Given the description of an element on the screen output the (x, y) to click on. 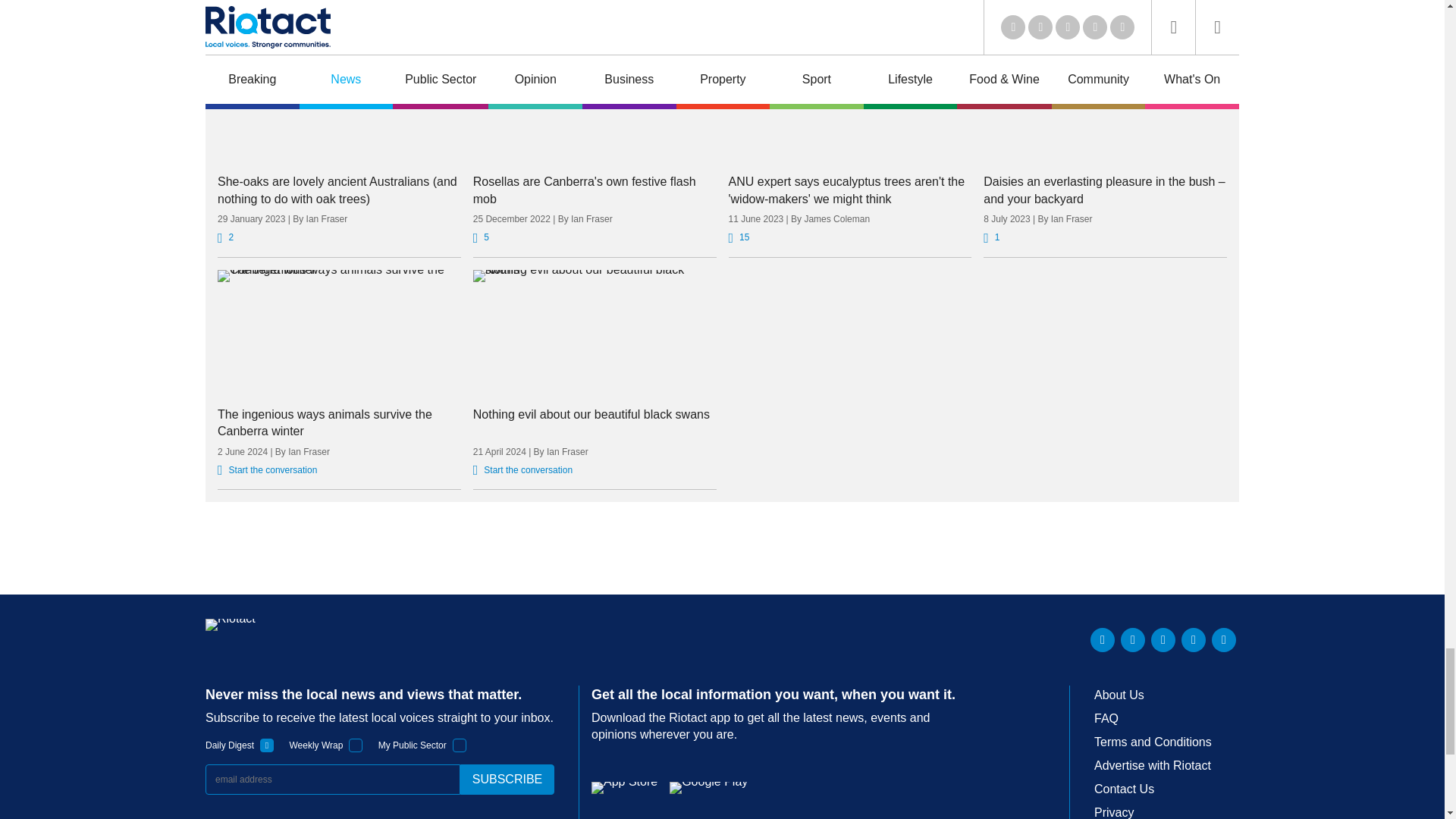
App Store (624, 787)
subscribe (507, 779)
1 (266, 745)
Twitter (1132, 639)
Instagram (1223, 639)
1 (355, 745)
Facebook (1192, 639)
1 (458, 745)
Youtube (1162, 639)
LinkedIn (1102, 639)
